Given the description of an element on the screen output the (x, y) to click on. 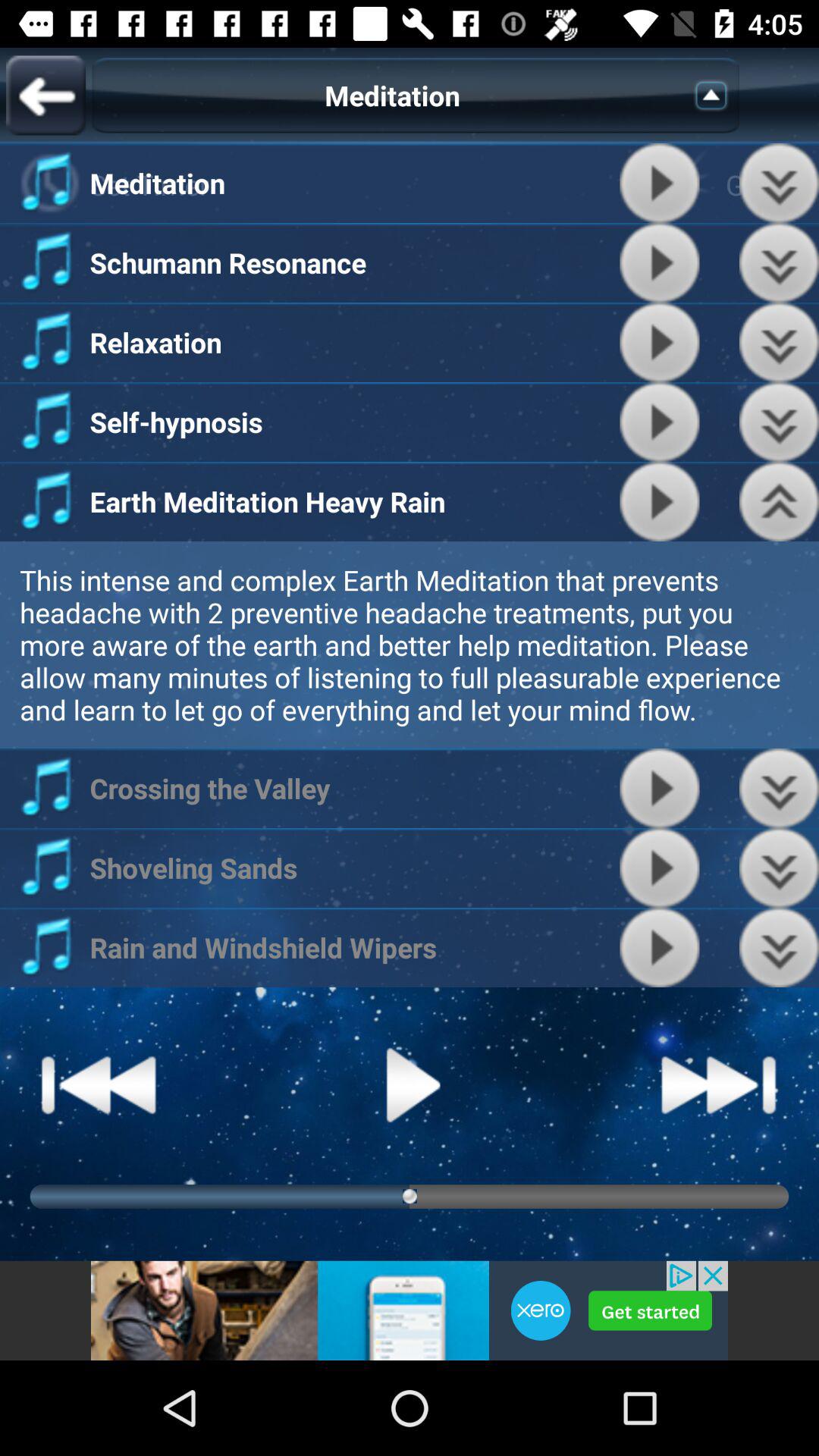
play song (659, 421)
